Given the description of an element on the screen output the (x, y) to click on. 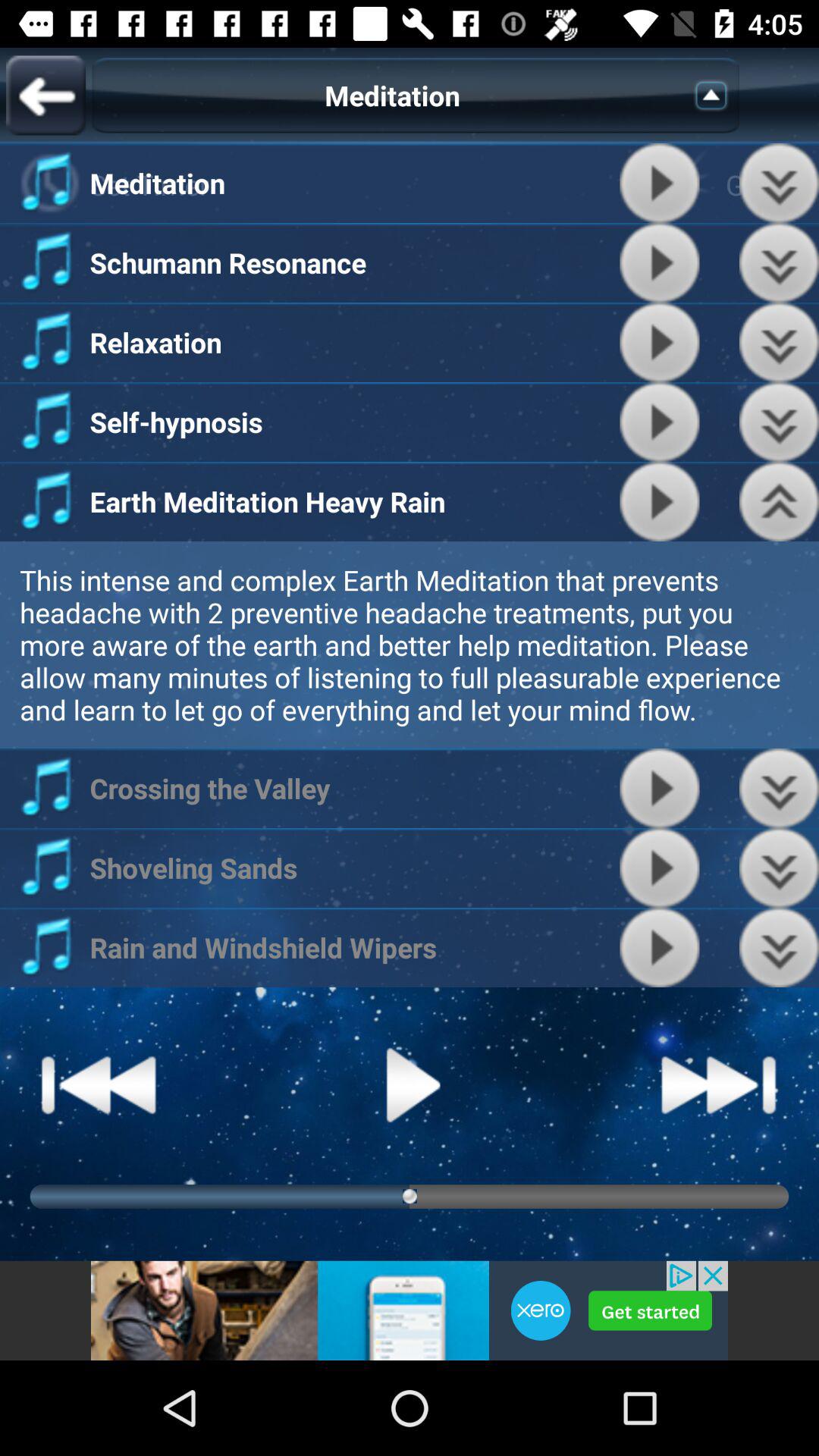
play song (659, 421)
